Given the description of an element on the screen output the (x, y) to click on. 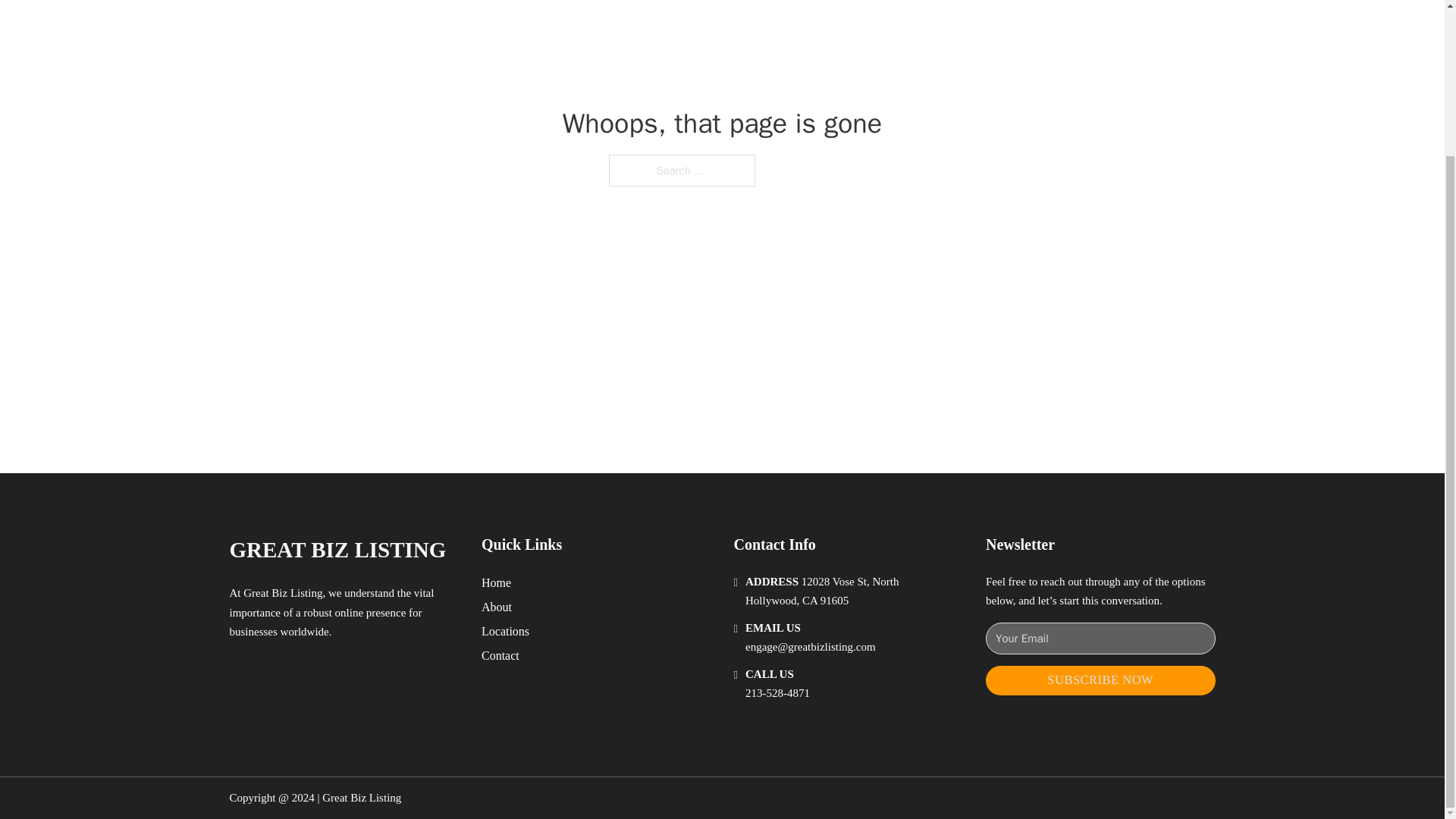
Contact (500, 655)
213-528-4871 (777, 693)
About (496, 607)
Locations (505, 630)
GREAT BIZ LISTING (336, 549)
SUBSCRIBE NOW (1100, 680)
Home (496, 582)
